Given the description of an element on the screen output the (x, y) to click on. 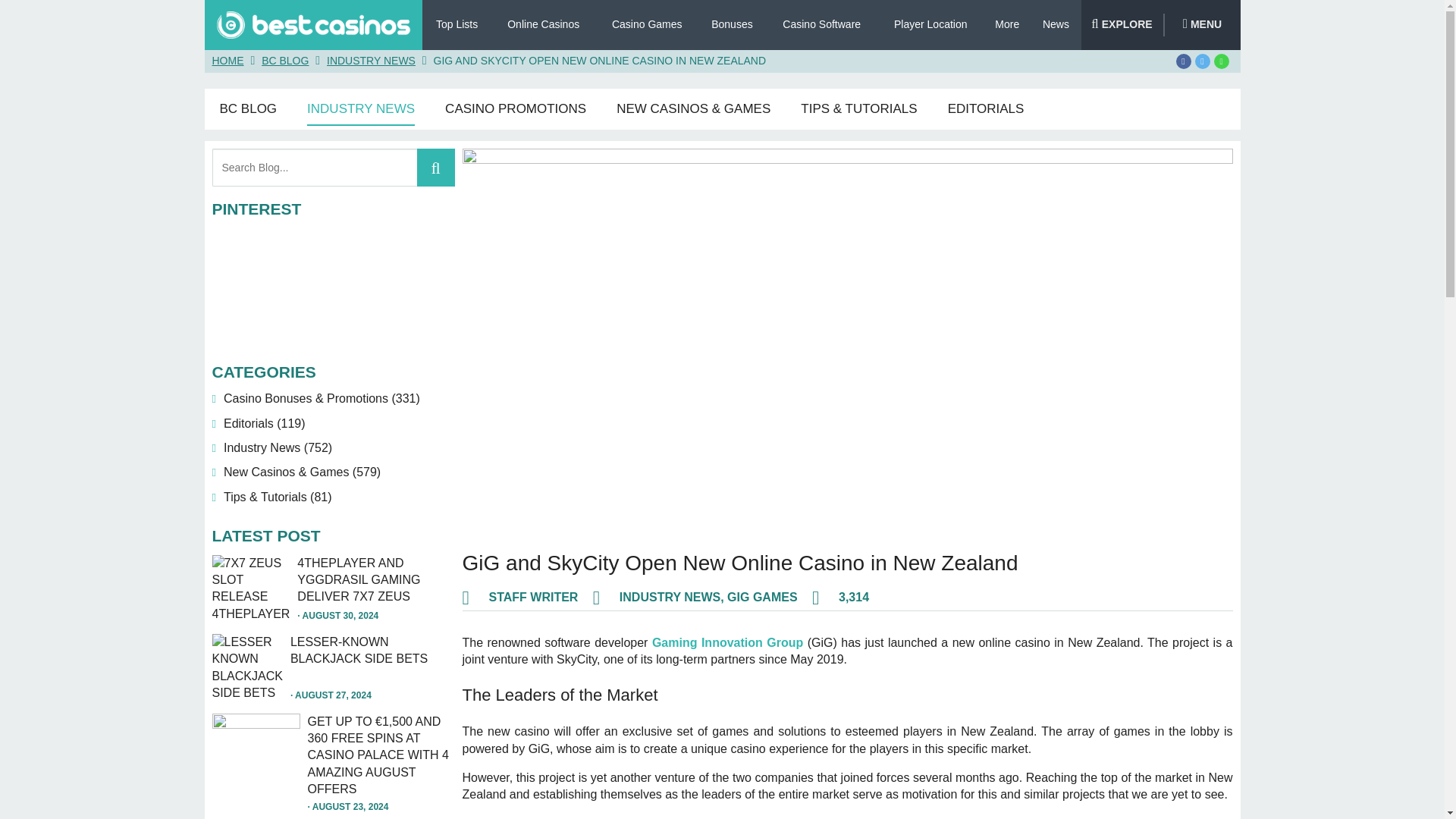
Casino Games (646, 27)
Online Casinos (542, 26)
Online Casinos (542, 26)
Top Lists (456, 26)
Bonuses (731, 26)
Casino Games (646, 26)
Casino Games (646, 26)
Casino Software (821, 26)
Top Lists (456, 27)
Online Casinos (543, 27)
